Given the description of an element on the screen output the (x, y) to click on. 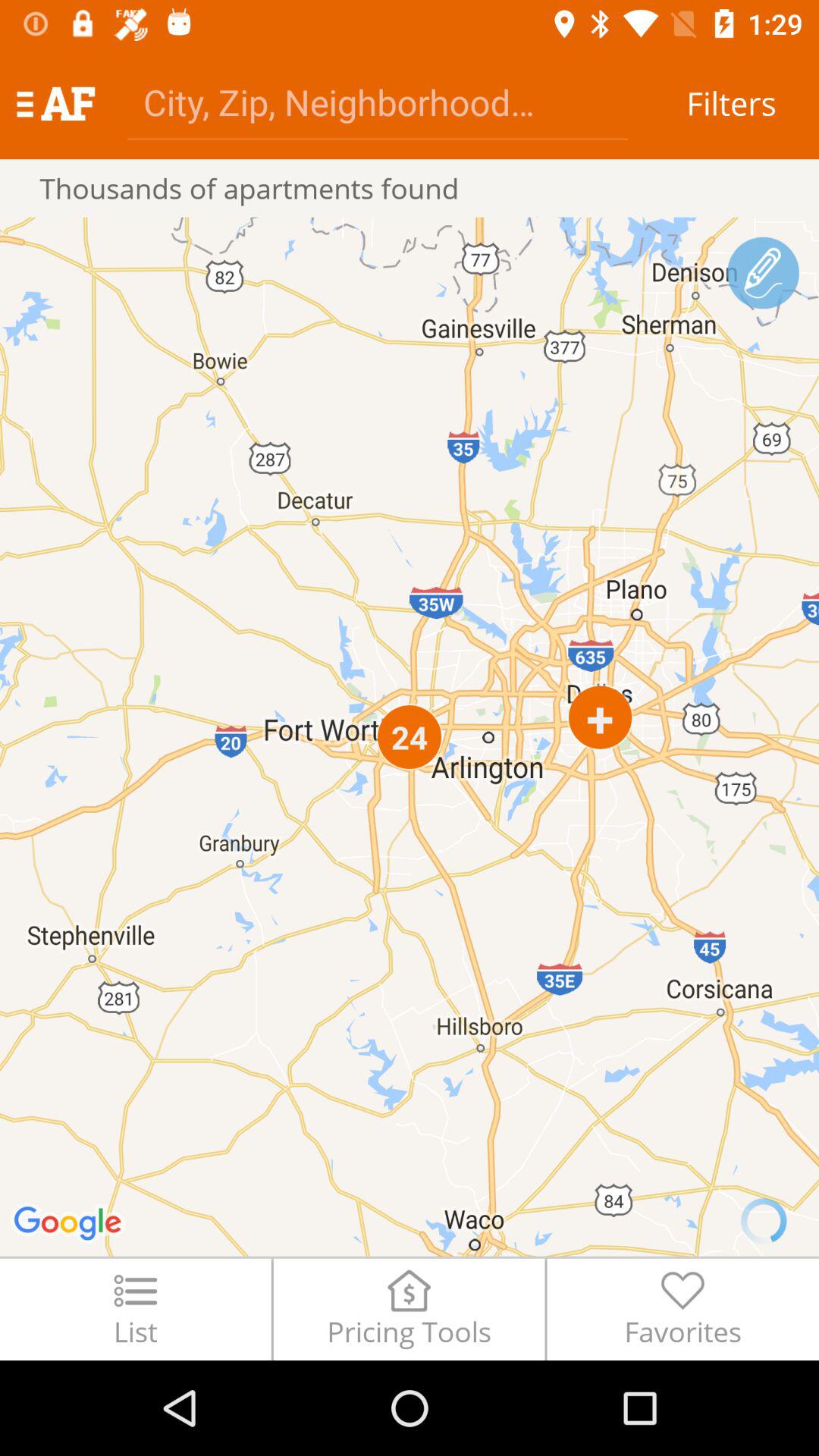
turn off the icon above the thousands of apartments icon (377, 102)
